Given the description of an element on the screen output the (x, y) to click on. 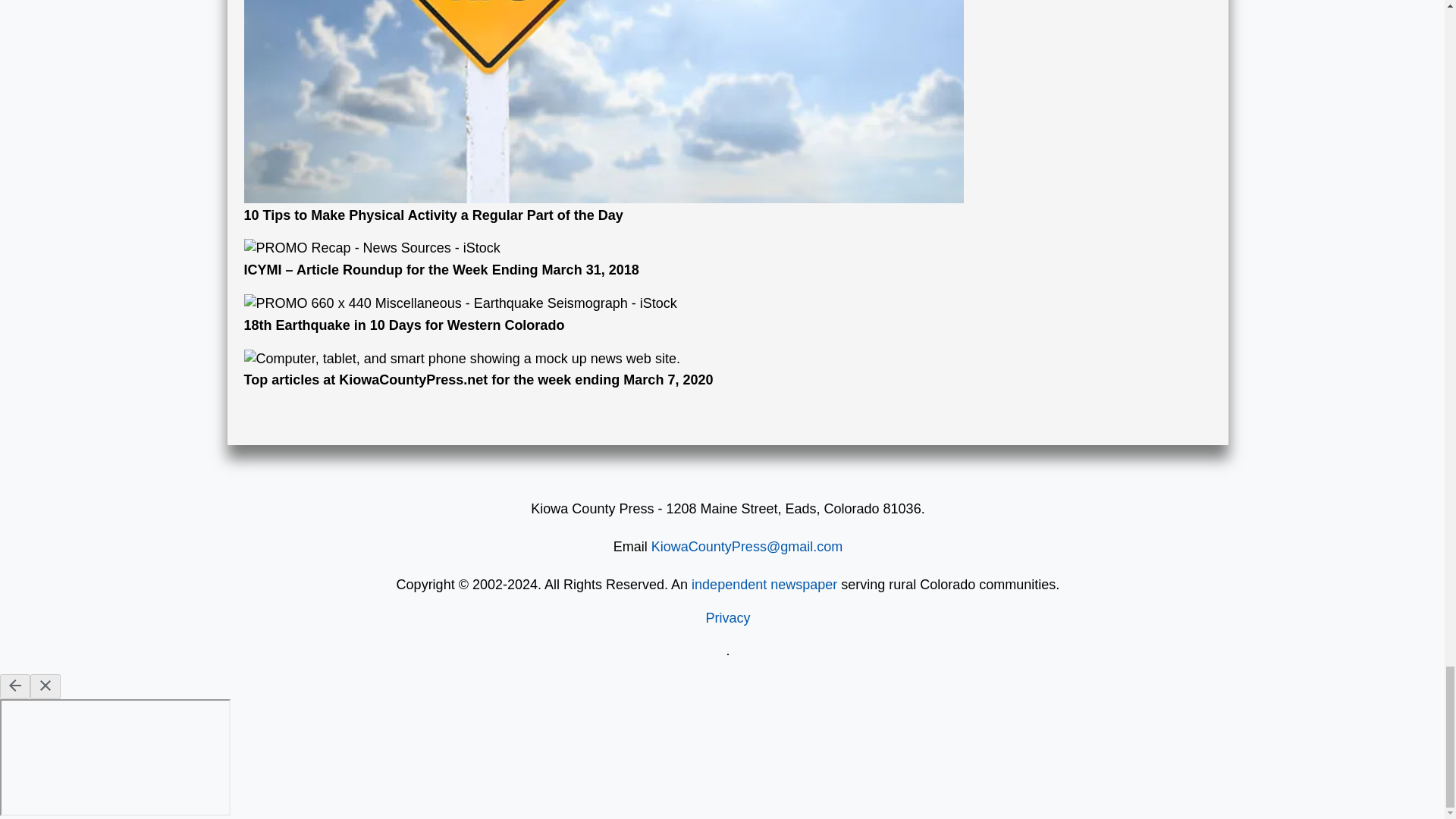
18th Earthquake in 10 Days for Western Colorado (603, 314)
